Given the description of an element on the screen output the (x, y) to click on. 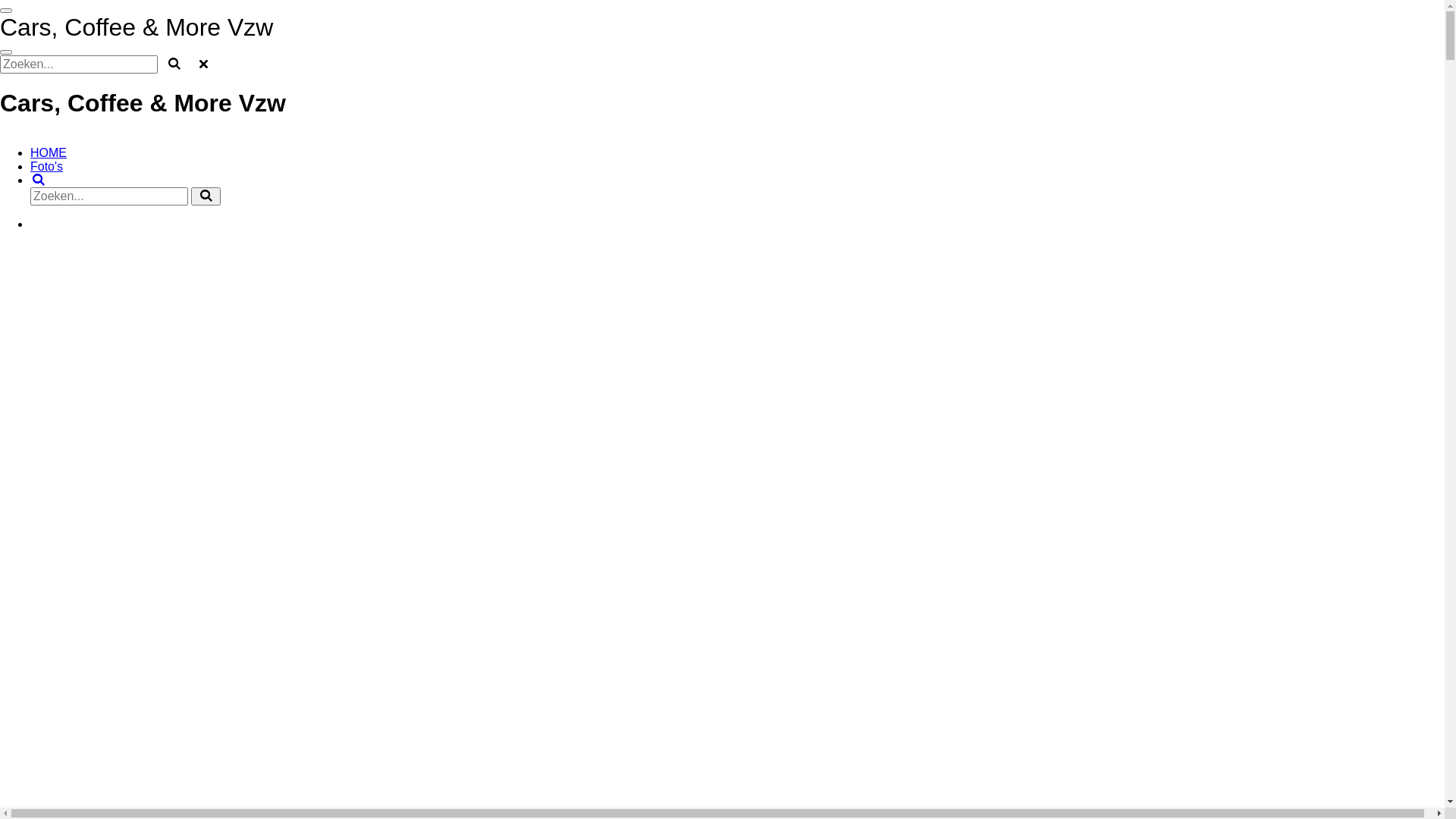
Zoeken Element type: hover (38, 179)
HOME Element type: text (48, 152)
Foto's Element type: text (46, 166)
